Given the description of an element on the screen output the (x, y) to click on. 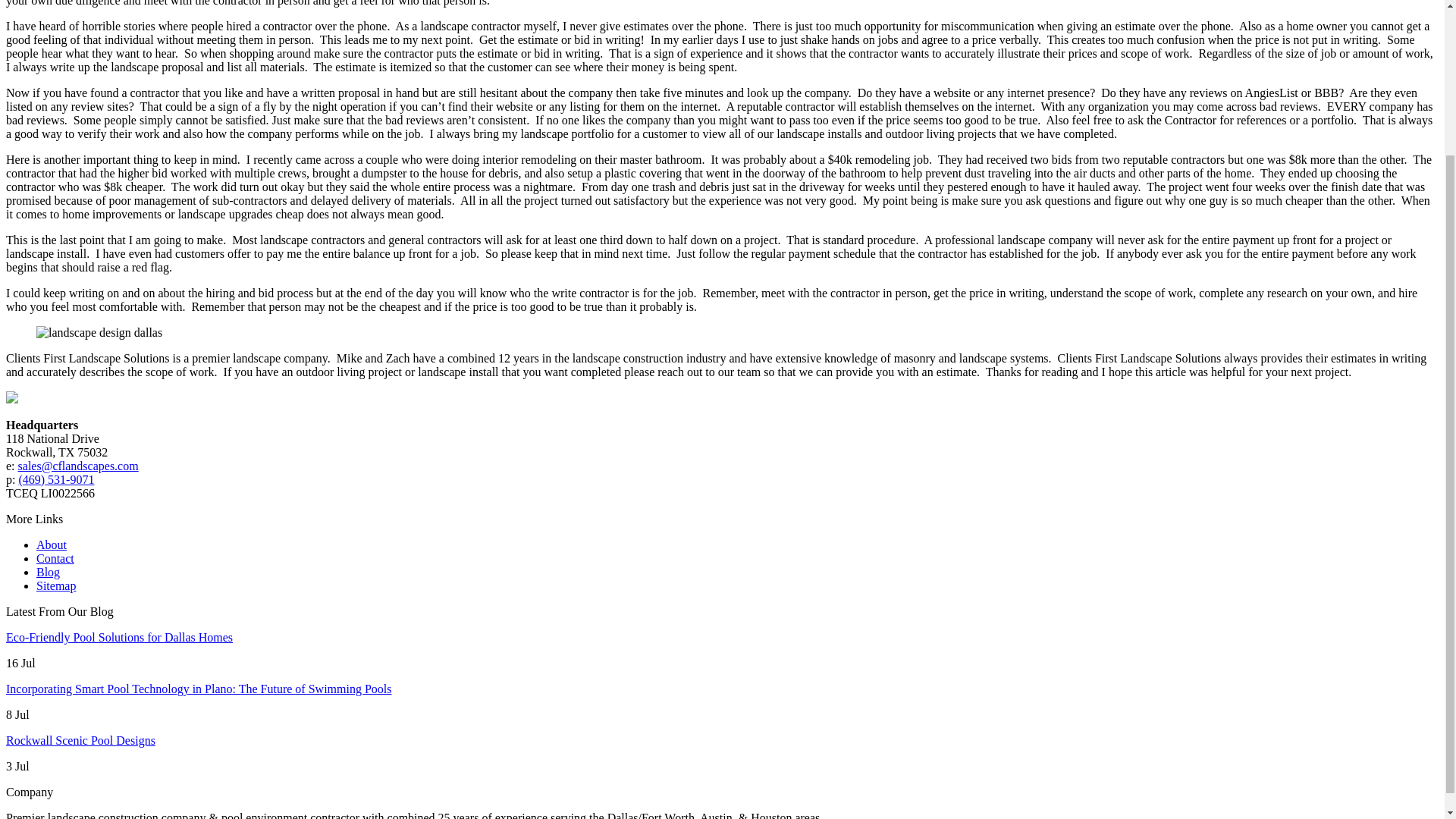
Blog (47, 571)
Sitemap (55, 585)
Contact (55, 558)
Eco-Friendly Pool Solutions for Dallas Homes (118, 636)
Rockwall Scenic Pool Designs (80, 739)
About (51, 544)
